Given the description of an element on the screen output the (x, y) to click on. 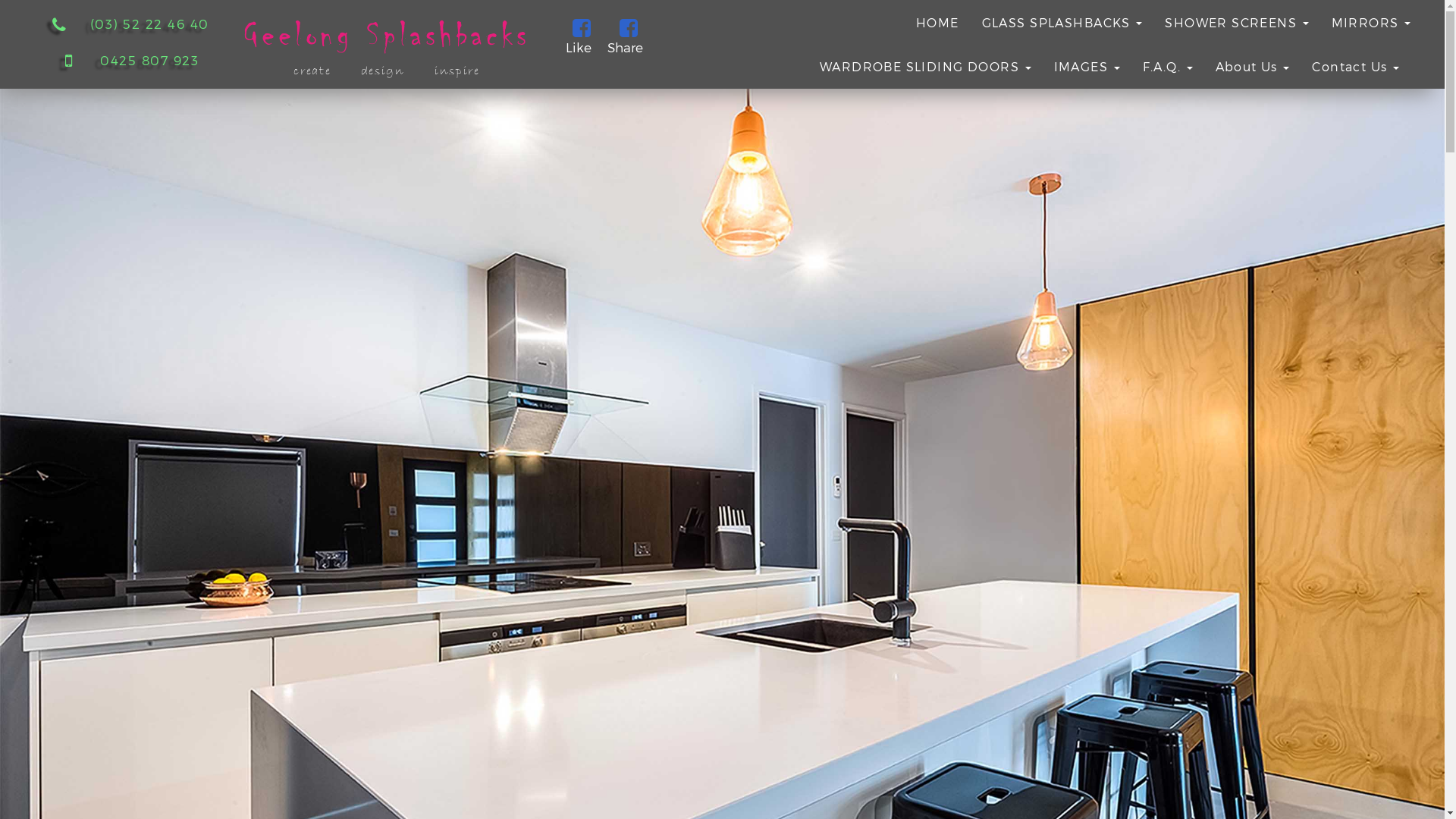
Like Element type: text (581, 31)
WARDROBE SLIDING DOORS Element type: text (925, 66)
IMAGES Element type: text (1086, 66)
MIRRORS Element type: text (1370, 22)
Geelong Splashbacks
create design inspire Element type: text (390, 40)
HOME Element type: text (937, 22)
GLASS SPLASHBACKS Element type: text (1062, 22)
F.A.Q. Element type: text (1167, 66)
About Us Element type: text (1252, 66)
Share Element type: text (628, 31)
Contact Us Element type: text (1355, 66)
SHOWER SCREENS Element type: text (1236, 22)
